Given the description of an element on the screen output the (x, y) to click on. 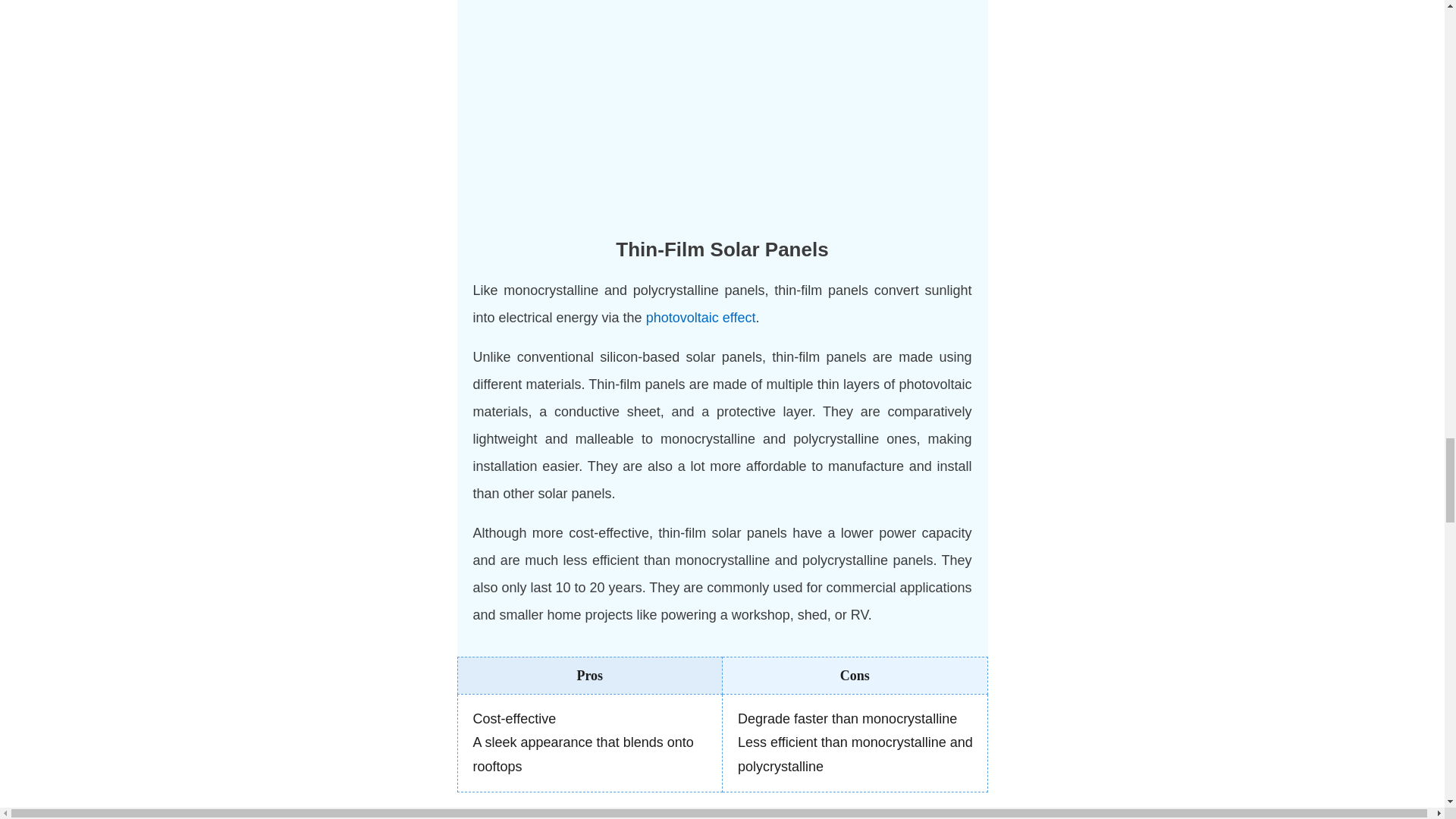
Thin-film solar panels (721, 108)
photovoltaic effect (700, 317)
